Given the description of an element on the screen output the (x, y) to click on. 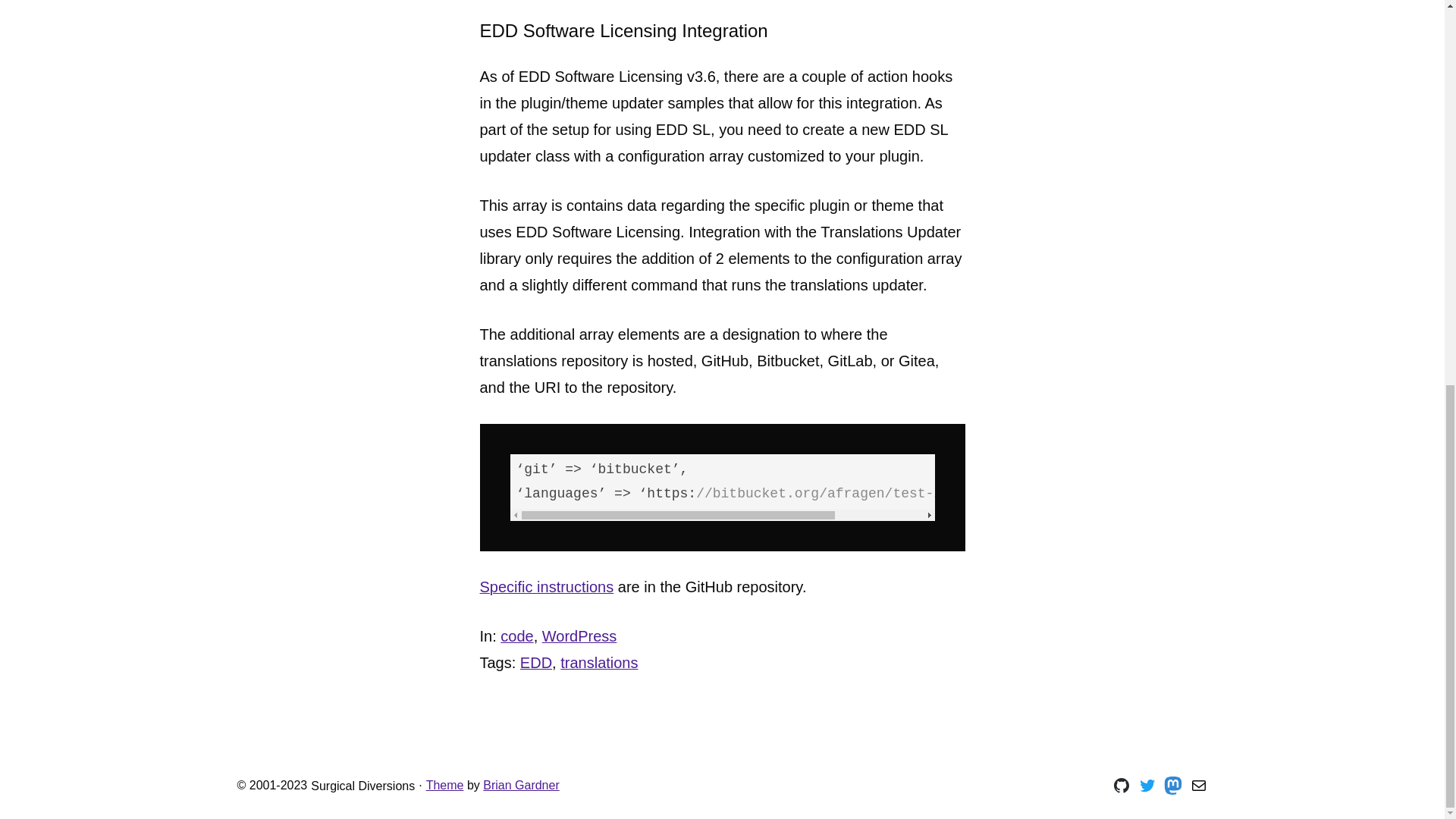
Mastodon (1171, 785)
Brian Gardner (521, 784)
Twitter (1146, 785)
WordPress (579, 636)
EDD (535, 662)
GitHub (1120, 785)
translations (598, 662)
Specific instructions (545, 586)
code (516, 636)
Theme (445, 784)
